Given the description of an element on the screen output the (x, y) to click on. 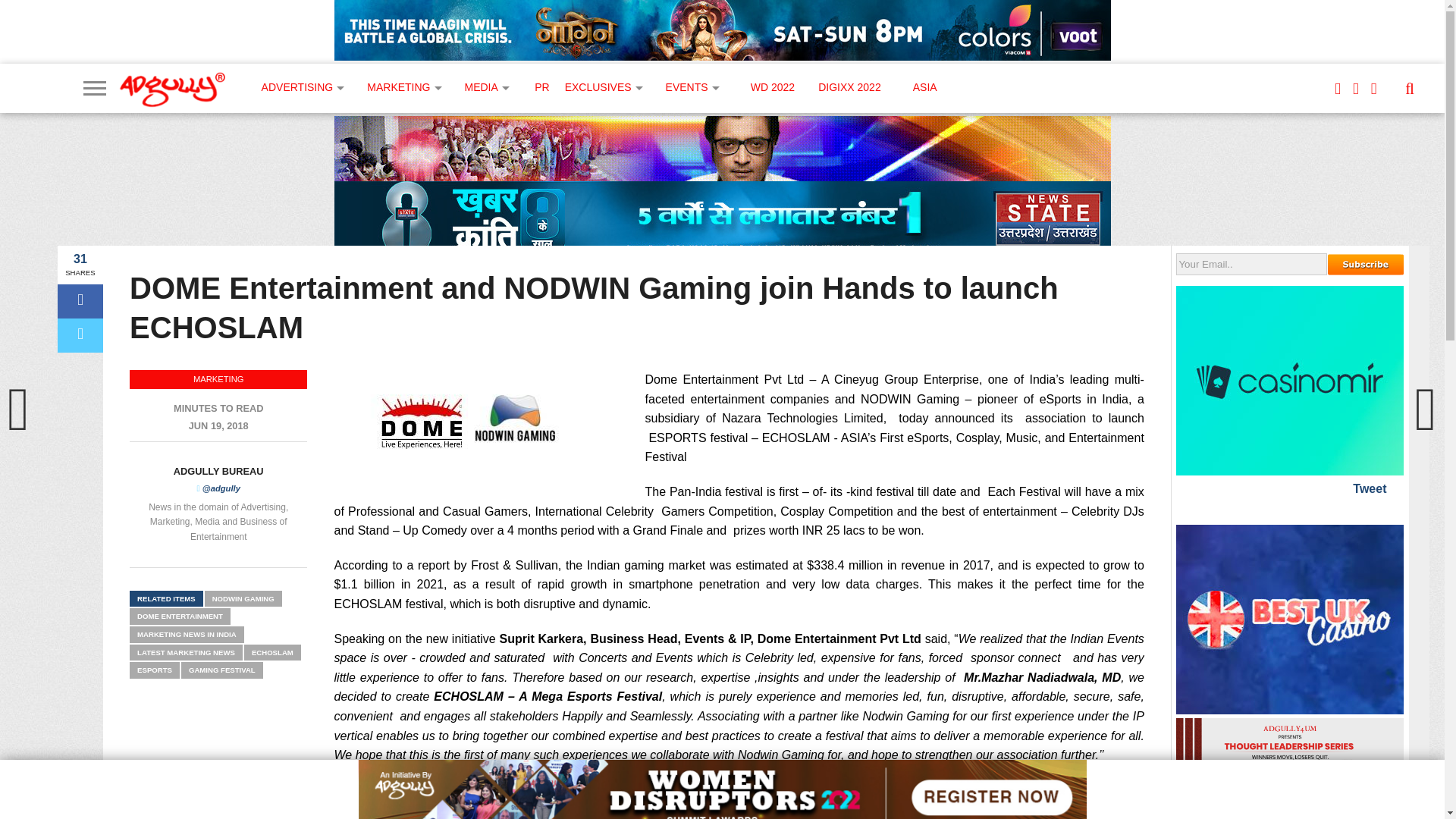
Posts by Adgully Bureau (218, 471)
Your Email.. (1251, 264)
Tweet This Post (80, 335)
Share on Facebook (80, 301)
